Given the description of an element on the screen output the (x, y) to click on. 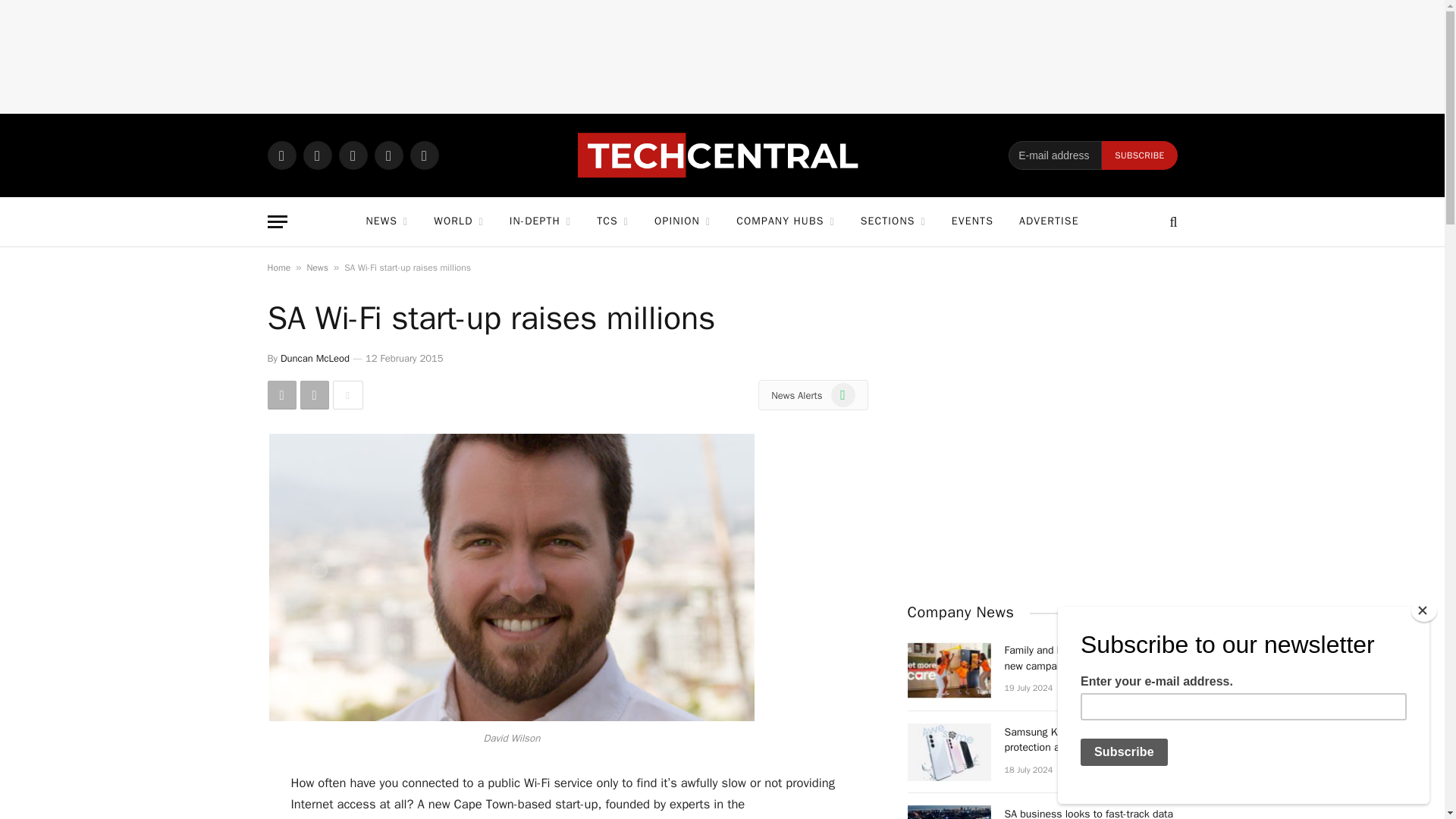
YouTube (423, 154)
LinkedIn (388, 154)
Subscribe (1139, 154)
IN-DEPTH (539, 221)
NEWS (386, 221)
WhatsApp (280, 154)
Facebook (316, 154)
WORLD (458, 221)
3rd party ad content (721, 56)
TechCentral (722, 155)
Subscribe (1139, 154)
